Given the description of an element on the screen output the (x, y) to click on. 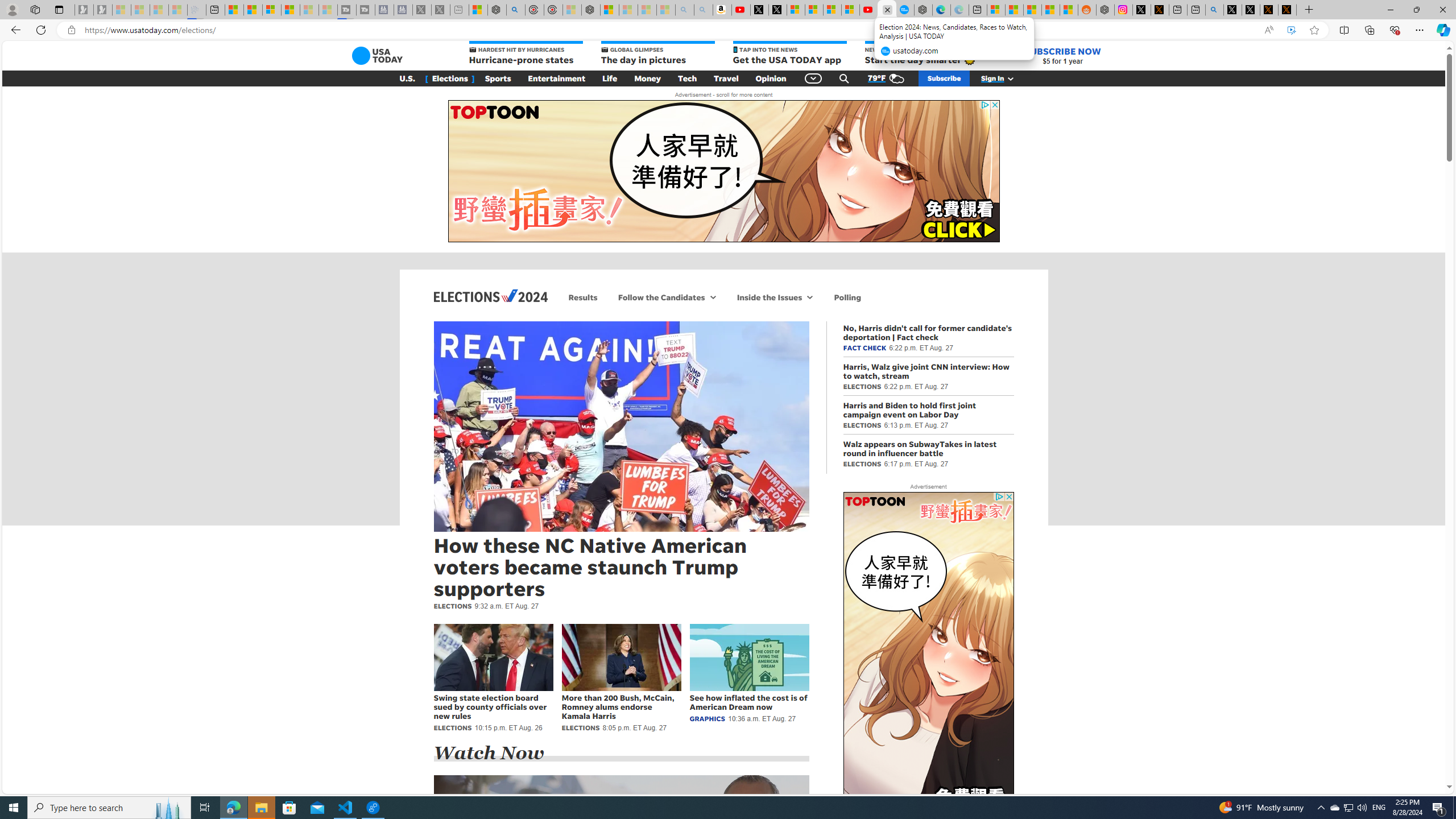
Enhance video (1291, 29)
Elections 2024 (490, 295)
More Follow the Candidates navigation (712, 296)
AutomationID: close_button_svg (1008, 496)
Profile / X (1232, 9)
Entertainment (556, 78)
Log in to X / X (1142, 9)
More Inside the Issues navigation (810, 296)
USA TODAY (376, 55)
Tech (687, 78)
